Given the description of an element on the screen output the (x, y) to click on. 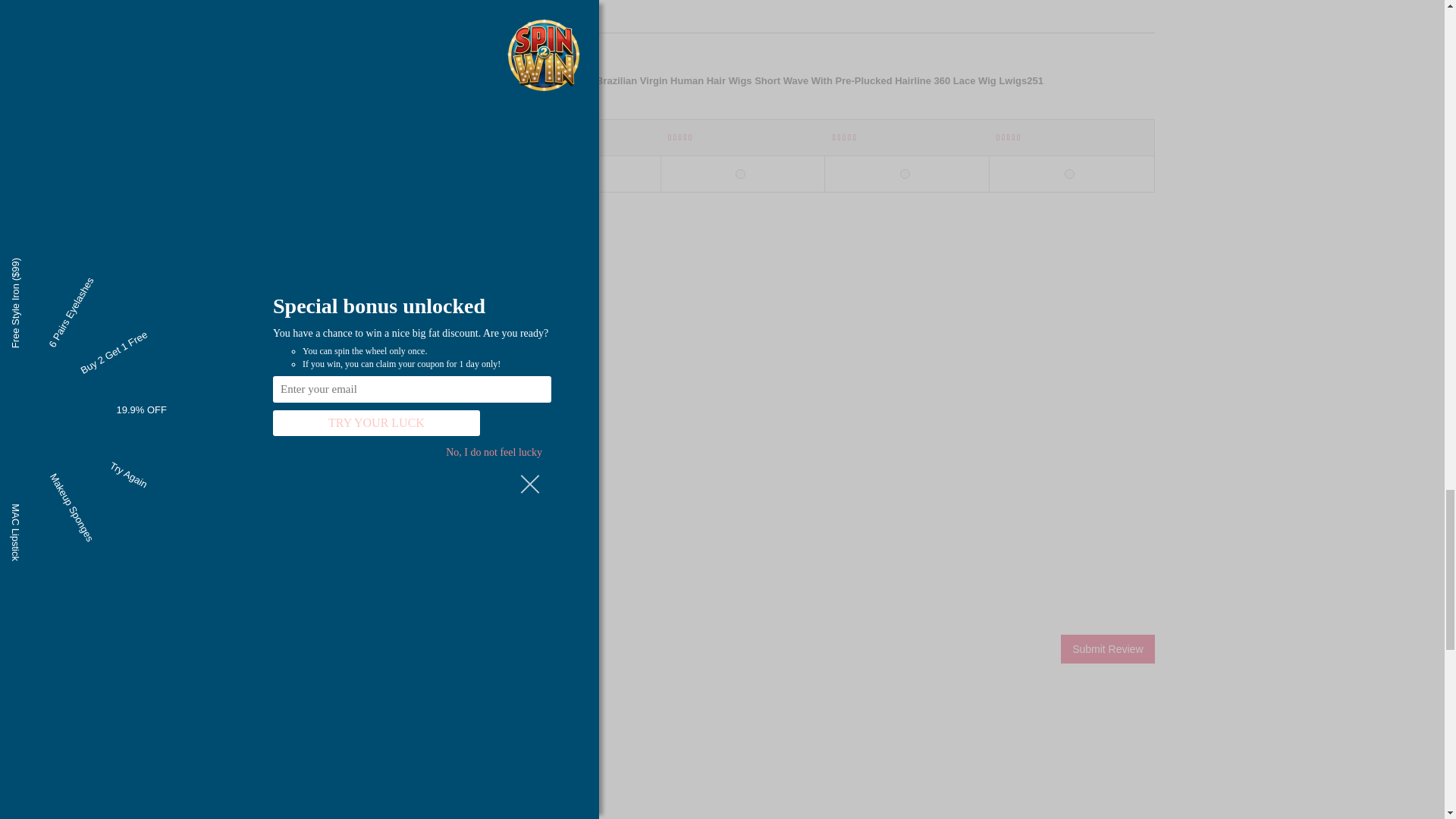
4 (904, 173)
1 (411, 173)
2 (576, 173)
3 (740, 173)
1 (294, 727)
5 (1069, 173)
4 (344, 725)
3 (328, 725)
5 (360, 725)
2 (310, 725)
